Given the description of an element on the screen output the (x, y) to click on. 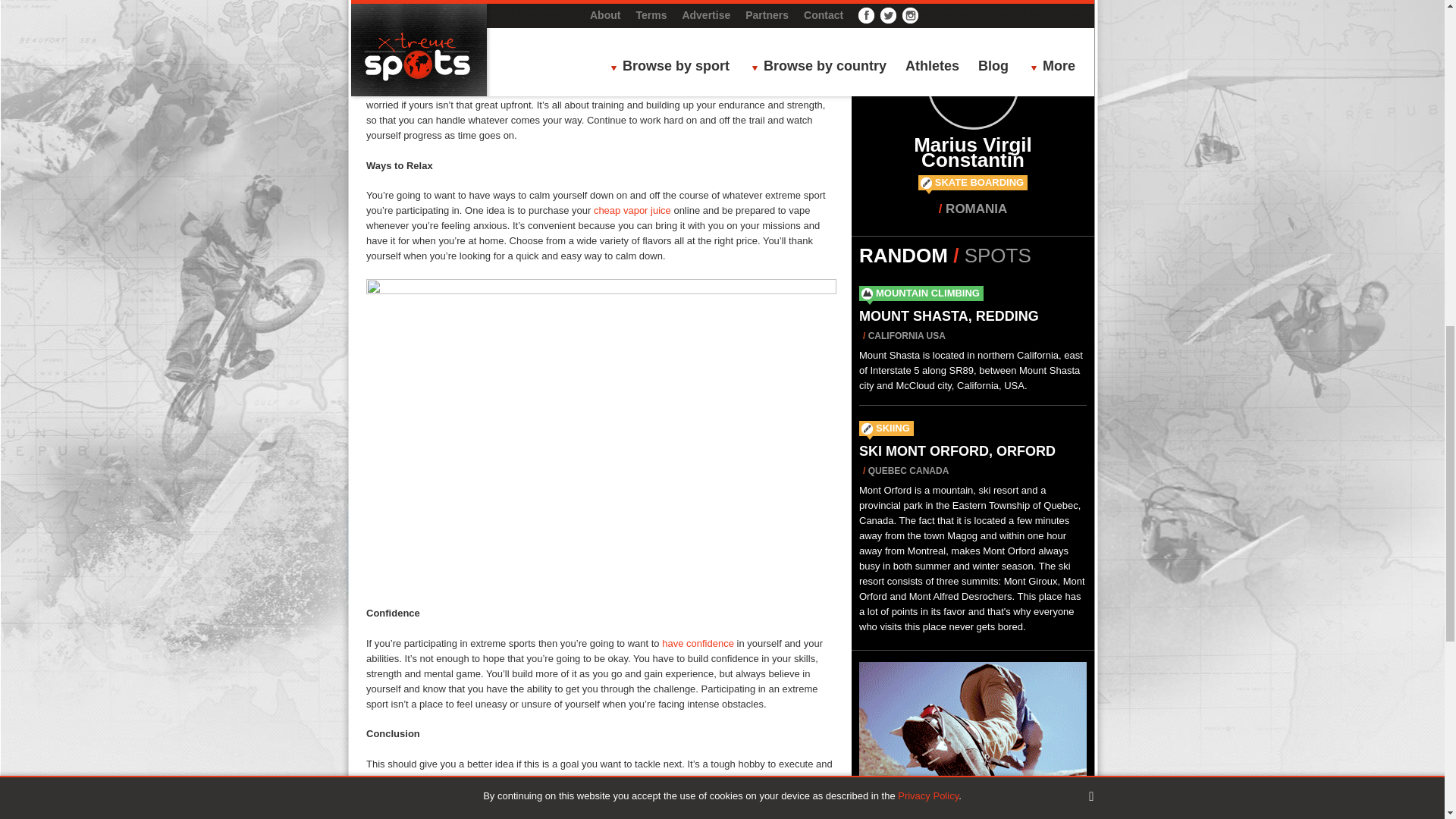
FACEBOOK (501, 817)
have confidence (697, 642)
have stamina (522, 74)
TWITTER (600, 817)
View this spot (957, 450)
PINTEREST (700, 817)
View all spots in Skiing (893, 427)
cheap vapor juice (632, 210)
View all spots in Mountain Climbing (927, 292)
View this spot (949, 314)
